Given the description of an element on the screen output the (x, y) to click on. 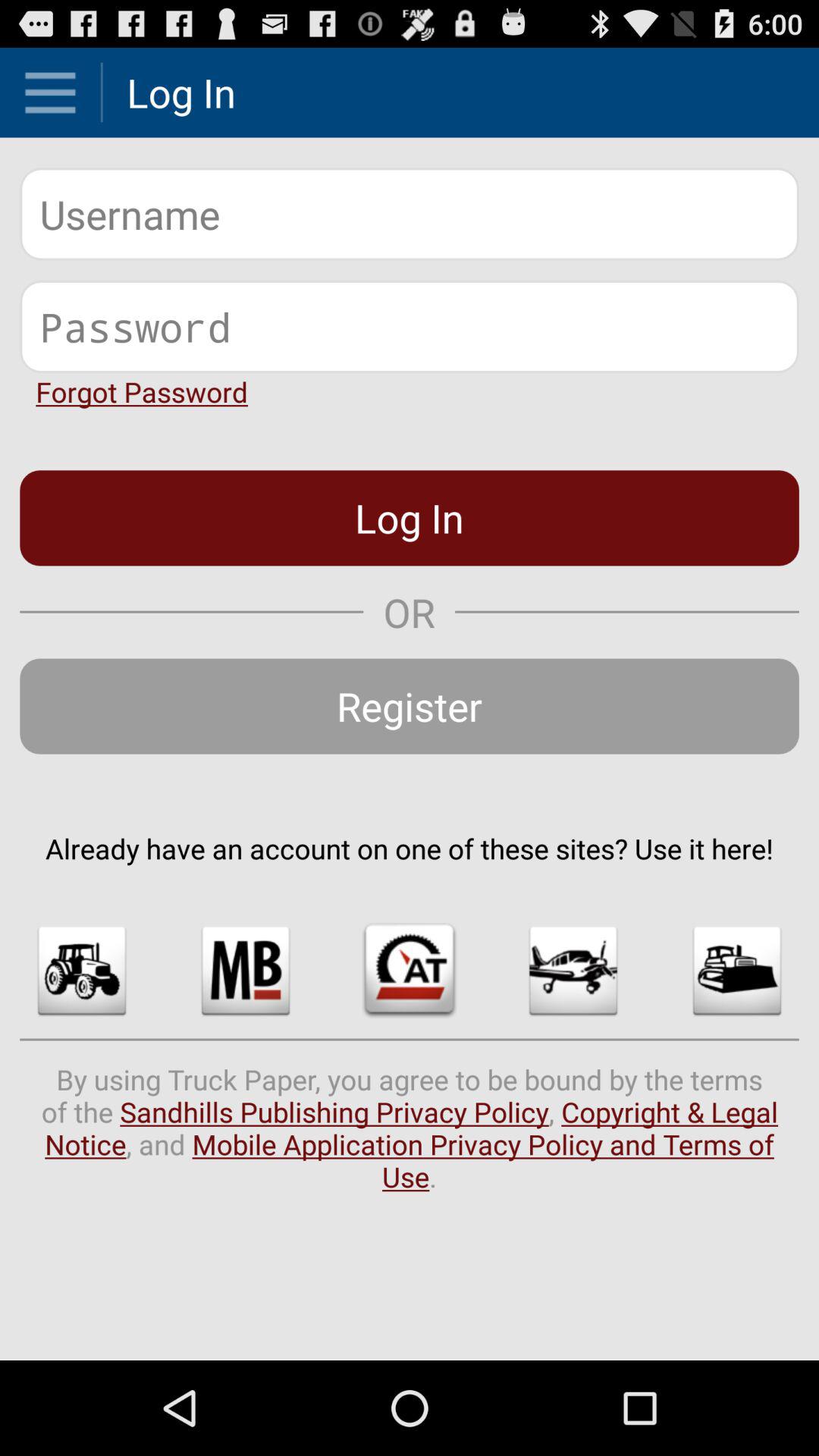
enter username (409, 213)
